Given the description of an element on the screen output the (x, y) to click on. 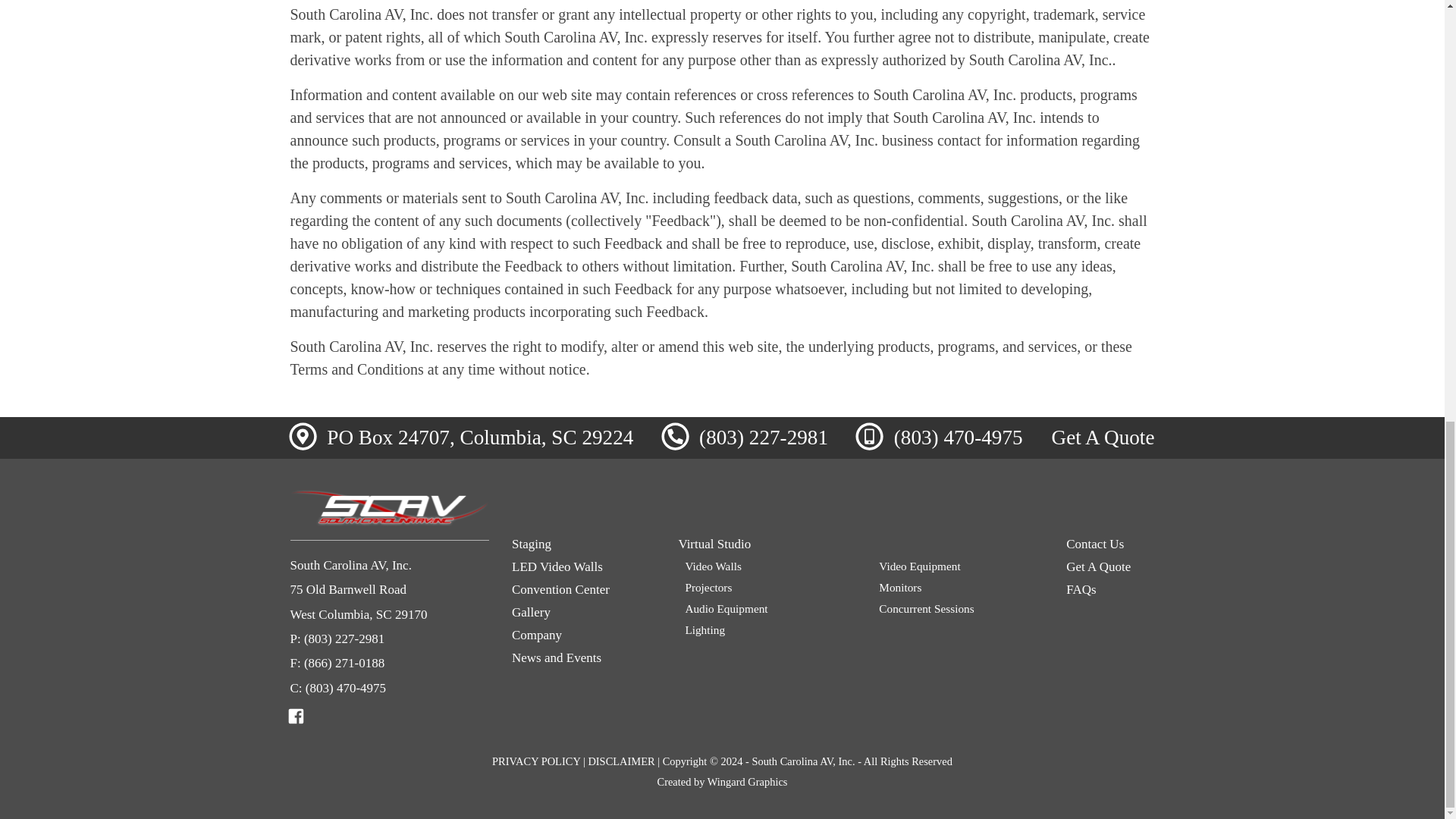
Gallery (583, 612)
News and Events (583, 657)
LED Video Walls (583, 566)
Convention Center (583, 589)
Video Walls (766, 566)
Projectors (766, 587)
Staging (583, 544)
Virtual Studio (860, 544)
Company (583, 635)
Get A Quote (1102, 436)
